Given the description of an element on the screen output the (x, y) to click on. 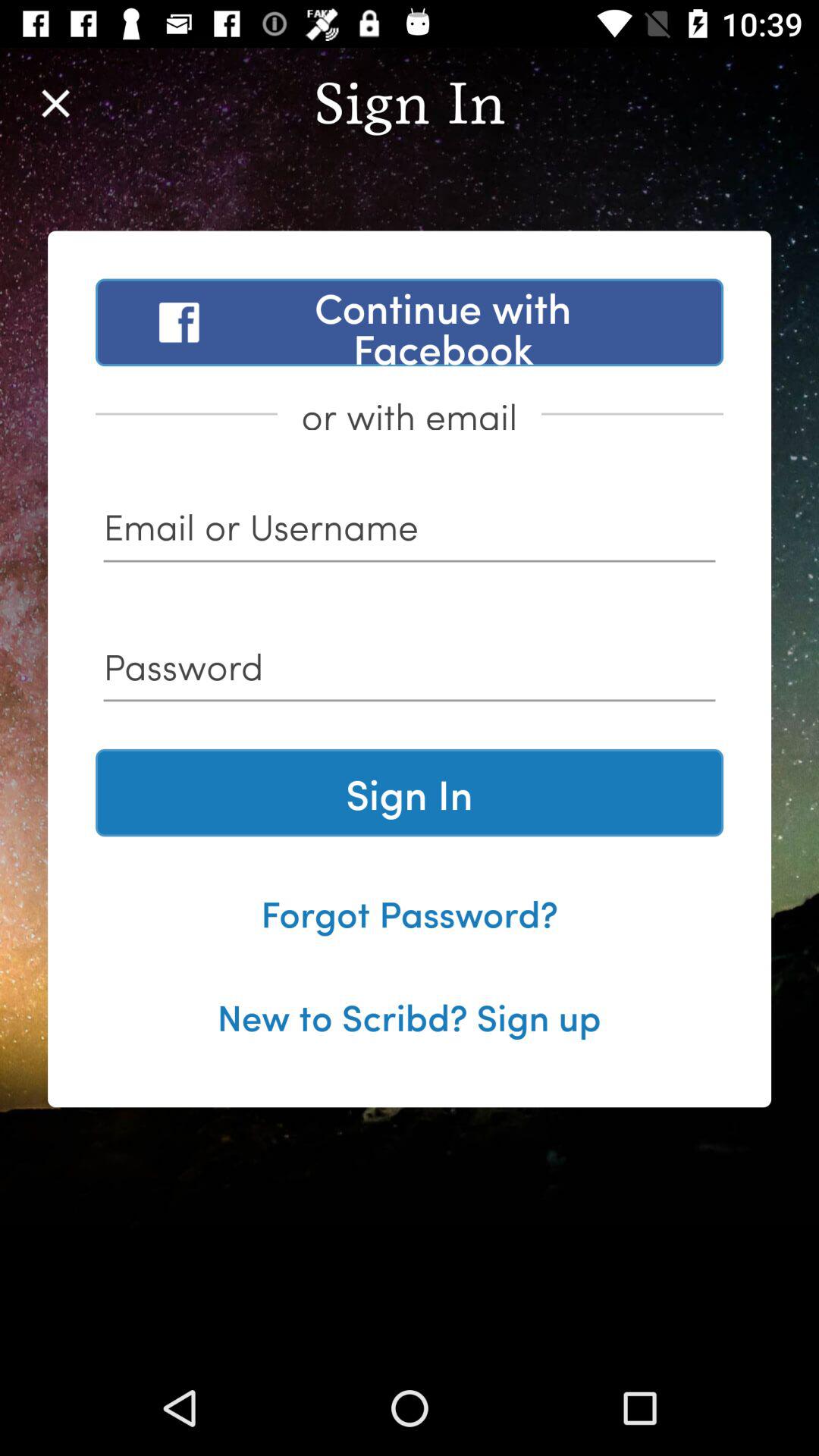
jump to continue with facebook icon (409, 322)
